Given the description of an element on the screen output the (x, y) to click on. 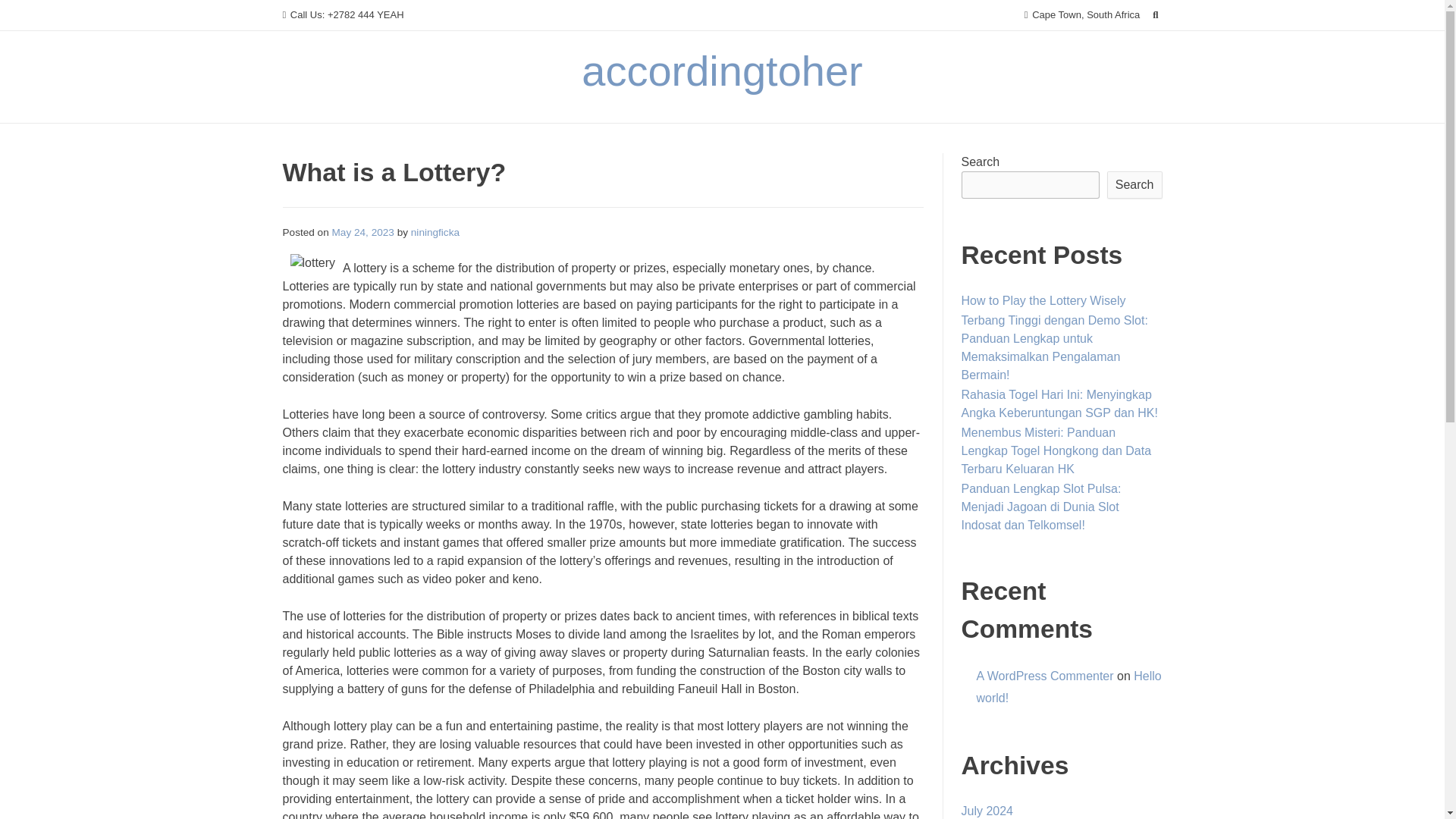
May 24, 2023 (362, 232)
Hello world! (1068, 686)
How to Play the Lottery Wisely (1042, 300)
accordingtoher (720, 70)
niningficka (435, 232)
July 2024 (986, 810)
A WordPress Commenter (1044, 675)
Search (1133, 185)
Search (27, 13)
